Given the description of an element on the screen output the (x, y) to click on. 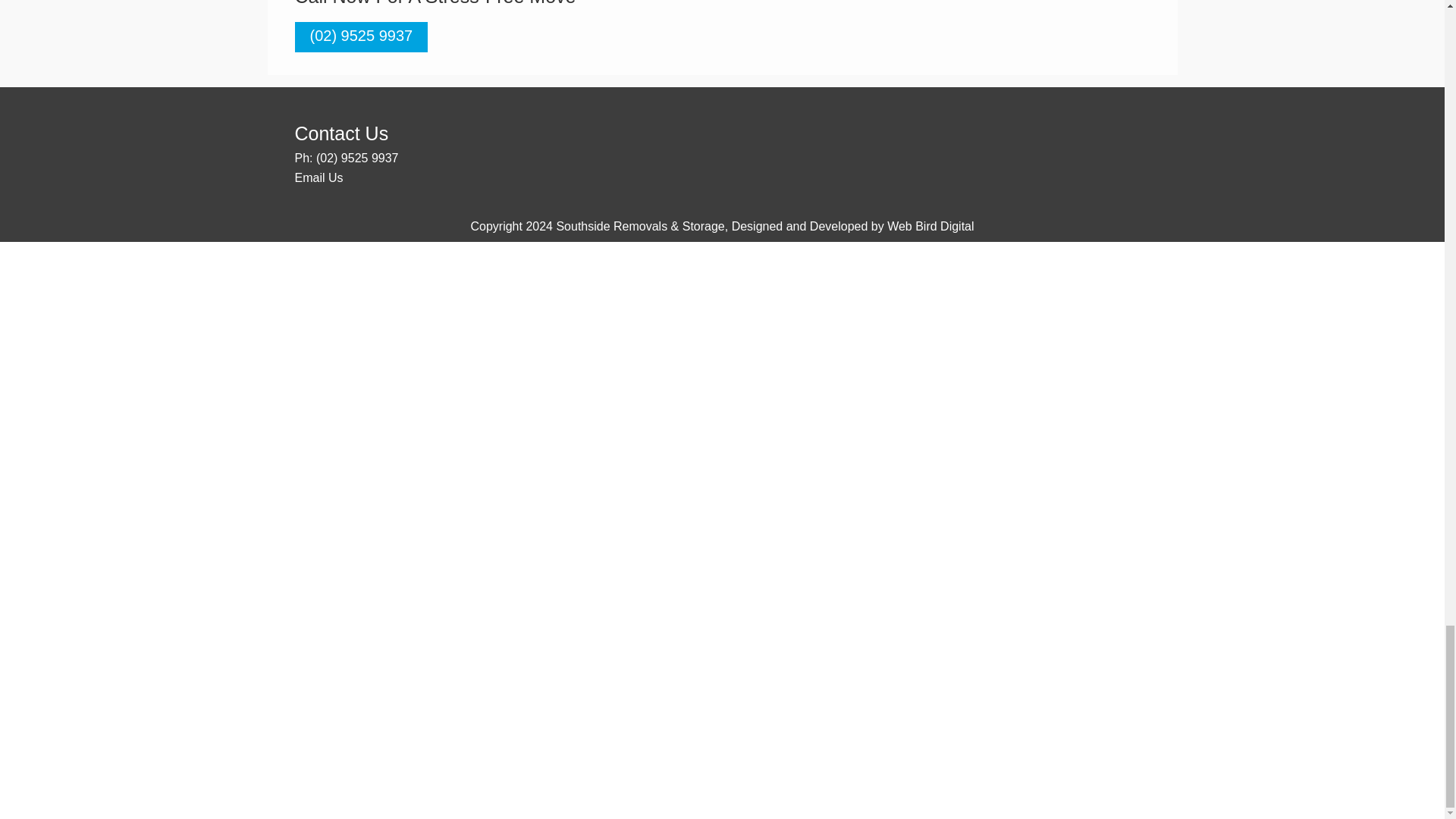
Web Bird Digital (930, 226)
Web Bird Digital (930, 226)
Email Us (318, 177)
Contact us via email (318, 177)
